Given the description of an element on the screen output the (x, y) to click on. 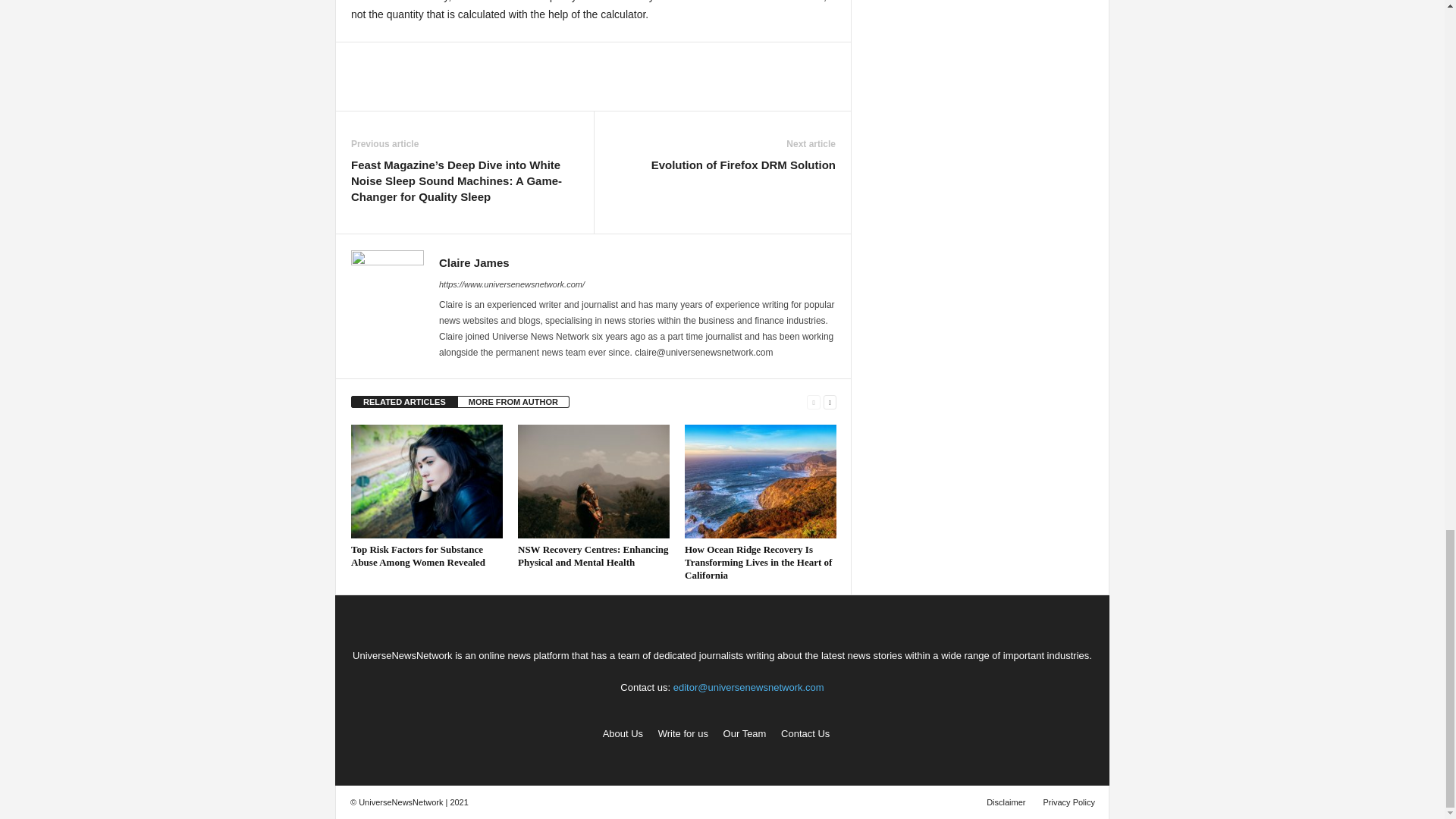
bottomFacebookLike (390, 57)
Claire James (474, 262)
Evolution of Firefox DRM Solution (742, 164)
